Given the description of an element on the screen output the (x, y) to click on. 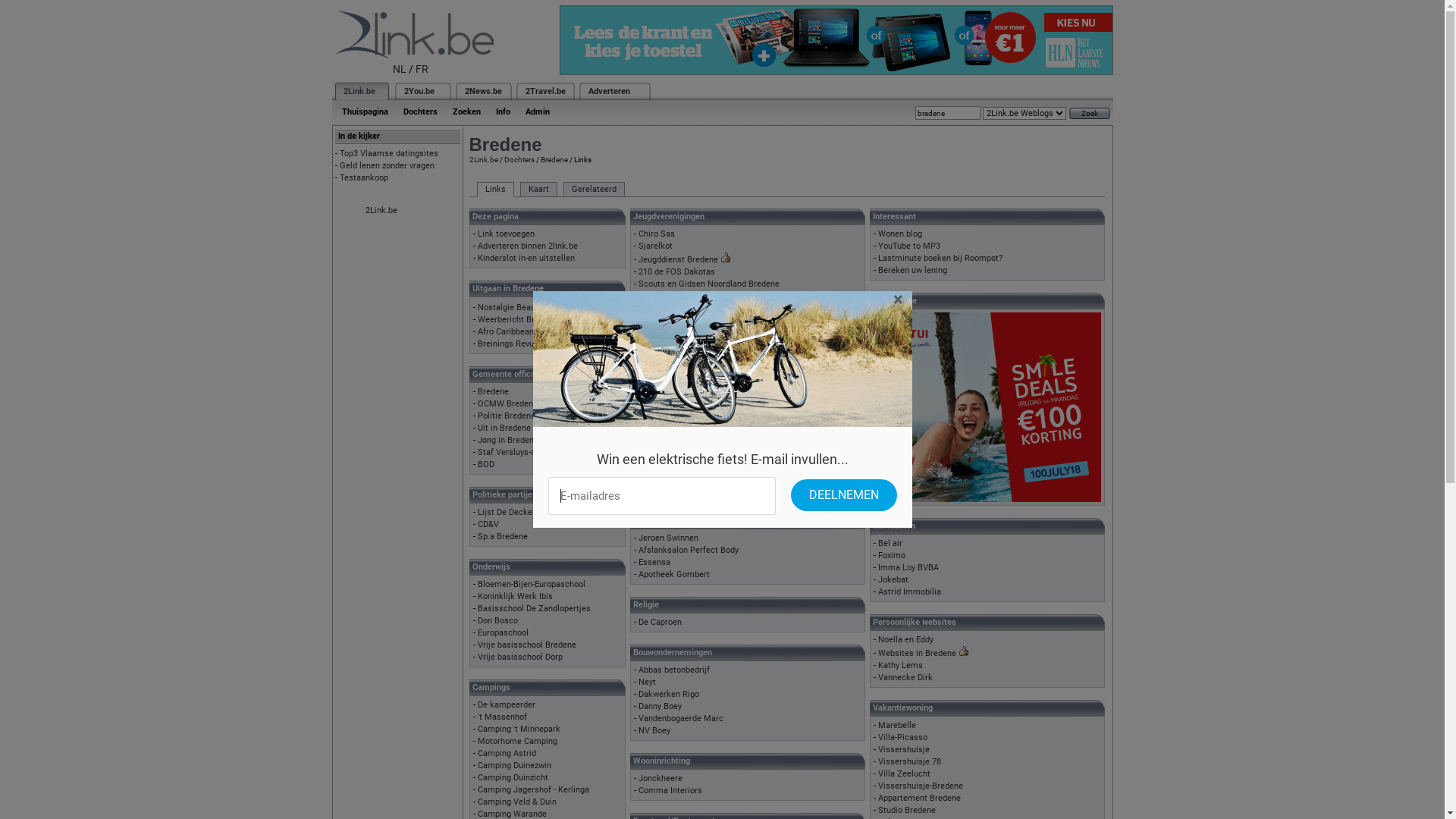
Jeugddienst Bredene Element type: text (678, 259)
Neyt Element type: text (646, 682)
Bloemen-Bijen-Europaschool Element type: text (531, 584)
Europaschool Element type: text (502, 632)
Zoek Element type: text (1089, 113)
Danny Boey Element type: text (659, 706)
Top3 Vlaamse datingsites Element type: text (388, 153)
Vissershuisje 78 Element type: text (909, 761)
Motorhome Camping Element type: text (517, 741)
De kampeerder Element type: text (506, 704)
Jokebat Element type: text (893, 579)
Comma Interiors Element type: text (670, 790)
Vissershuisje Element type: text (903, 749)
Turnkring Neptunus vzw Element type: text (683, 478)
Kinderslot in-en uitstellen Element type: text (525, 258)
Staf Versluys-centrum Element type: text (519, 452)
Griekse Club Yamas Element type: text (676, 369)
Nostalgie Beachfestival Bredene Element type: text (539, 307)
Scouts en Gidsen Noordland Bredene Element type: text (708, 283)
Essensa Element type: text (654, 562)
De Klisse Element type: text (656, 345)
Tafeltennisclub Bredene Element type: text (684, 441)
Politie Bredene-De Haan Element type: text (523, 415)
210 de FOS Dakotas Element type: text (676, 271)
Don Bosco Element type: text (497, 620)
Afslanksalon Perfect Body Element type: text (688, 550)
Jonckheere Element type: text (660, 778)
Breinings Revuutje Element type: text (512, 343)
Uit in Bredene Element type: text (503, 428)
Info Element type: text (502, 111)
Chiro Sas Element type: text (656, 233)
De Caproen Element type: text (659, 622)
Basisschool De Zandlopertjes Element type: text (533, 608)
Astrid Immobilia Element type: text (909, 591)
Weerbericht Bredene Element type: text (517, 319)
Studio Bredene Element type: text (906, 810)
Zoeken Element type: text (465, 111)
BOD Element type: text (485, 464)
Thuispagina Element type: text (364, 111)
Afro Caribbean Festival Element type: text (521, 331)
Adverteren Element type: text (609, 91)
Lijst De Decker Element type: text (506, 512)
YouTube to MP3 Element type: text (909, 246)
OCMW Bredene Element type: text (507, 403)
Camping Jagershof - Kerlinga Element type: text (533, 789)
Progressieve Toneelkring Boontje Element type: text (701, 333)
Jong in Bredene Element type: text (507, 440)
Gerelateerd Element type: text (593, 189)
Bredene Element type: text (492, 391)
2Link.be Element type: text (482, 159)
Bredene Element type: text (553, 159)
't Massenhof Element type: text (502, 716)
Kathy Lems Element type: text (900, 665)
Koninklijk Werk Ibis Element type: text (514, 596)
Volley Bredene Element type: text (666, 490)
Lastminute boeken bij Roompot? Element type: text (940, 258)
Vissershuisje-Bredene Element type: text (920, 785)
FR Element type: text (421, 68)
Kaart Element type: text (538, 189)
Admin Element type: text (536, 111)
Wonen.blog Element type: text (900, 233)
Foximo Element type: text (891, 555)
NV Boey Element type: text (654, 730)
Vrije basisschool Dorp Element type: text (519, 657)
Camping Duinzicht Element type: text (512, 777)
2Link.be Element type: text (381, 210)
Camping Duinezwin Element type: text (514, 765)
Bel air Element type: text (890, 543)
Club Yellow Racing Element type: text (674, 357)
Links Element type: text (494, 189)
Dakwerken Rigo Element type: text (668, 694)
Villa Zeelucht Element type: text (904, 773)
Myiamoto Jiu Jitsu Element type: text (674, 465)
Camping Astrid Element type: text (506, 753)
Link toevoegen Element type: text (505, 233)
Dochters Element type: text (518, 159)
Vandenbogaerde Marc Element type: text (680, 718)
Apotheek Gombert Element type: text (673, 574)
Imma Loy BVBA Element type: text (908, 567)
Bereken uw lening Element type: text (912, 270)
2Travel.be Element type: text (544, 91)
Duikernikkers Element type: text (664, 429)
Dochters Element type: text (420, 111)
Villa-Picasso Element type: text (902, 737)
Adverteren binnen 2link.be Element type: text (527, 246)
Vrije basisschool Bredene Element type: text (526, 644)
2You.be Element type: text (418, 91)
Bredense Bruinvissen Element type: text (679, 417)
Testaankoop Element type: text (363, 177)
Duikschool Tortuga Divers Element type: text (687, 453)
Websites in Bredene Element type: text (917, 653)
Noella en Eddy Element type: text (905, 639)
Camping 't Minnepark Element type: text (518, 729)
Jeroen Swinnen Element type: text (668, 537)
2News.be Element type: text (482, 91)
Marebelle Element type: text (897, 725)
Camping Veld & Duin Element type: text (516, 801)
2Link.be Element type: text (358, 91)
Geld lenen zonder vragen Element type: text (386, 165)
CD&V Element type: text (487, 524)
Sjarelkot Element type: text (655, 246)
Abbas betonbedrijf Element type: text (673, 669)
Sp.a Bredene Element type: text (502, 536)
NL Element type: text (399, 68)
Appartement Bredene Element type: text (919, 798)
Vannecke Dirk Element type: text (905, 677)
